Given the description of an element on the screen output the (x, y) to click on. 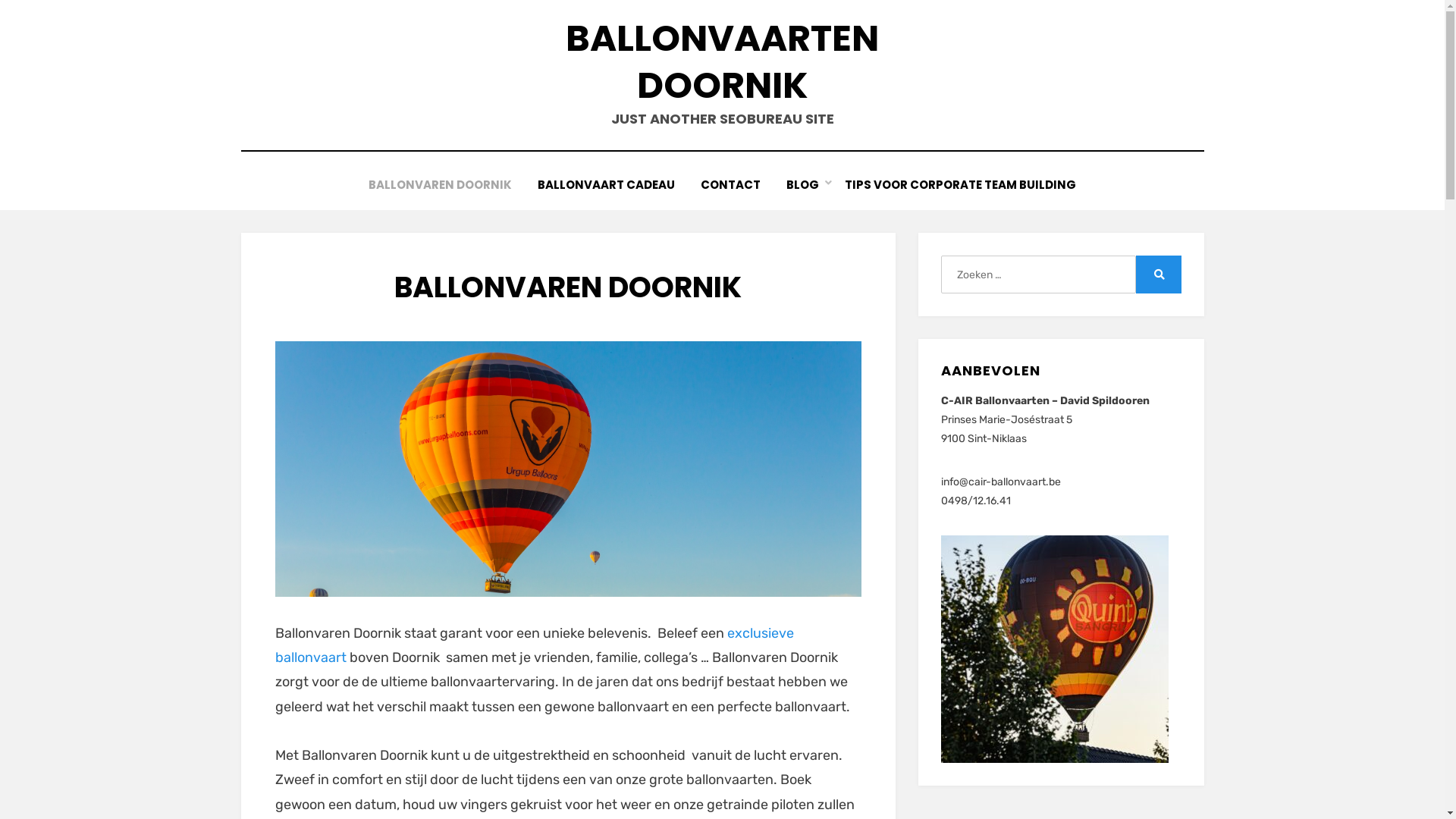
exclusieve ballonvaart Element type: text (533, 644)
Zoeken Element type: text (1158, 274)
BALLONVAARTEN DOORNIK Element type: text (721, 61)
BALLONVAREN DOORNIK Element type: text (439, 184)
TIPS VOOR CORPORATE TEAM BUILDING Element type: text (959, 184)
BLOG Element type: text (802, 184)
BALLONVAART CADEAU Element type: text (605, 184)
0498/12.16.41 Element type: text (975, 500)
CONTACT Element type: text (730, 184)
info@cair-ballonvaart.be Element type: text (1000, 481)
Zoeken naar: Element type: hover (1038, 274)
